Given the description of an element on the screen output the (x, y) to click on. 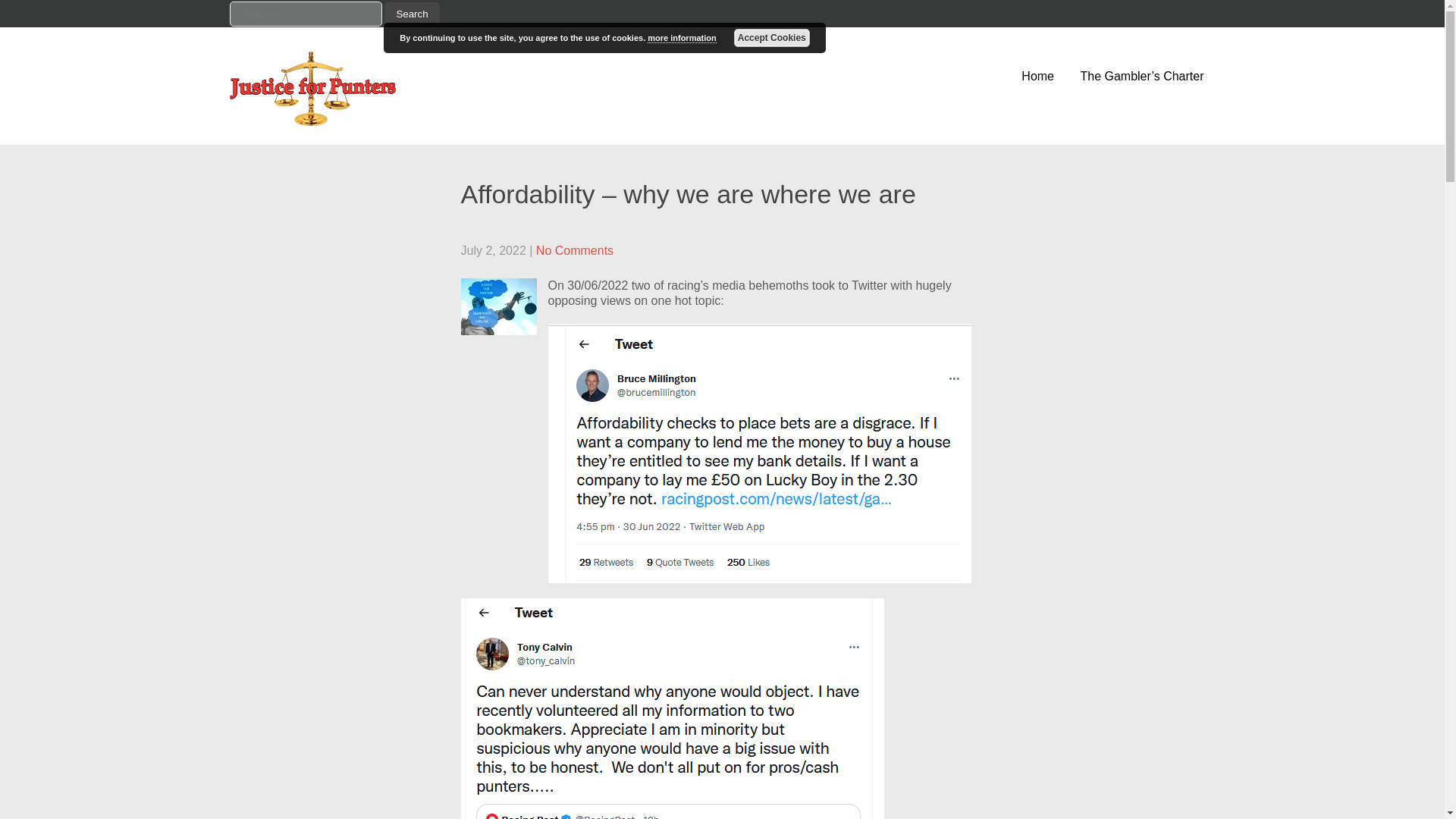
Search (411, 13)
No Comments (573, 250)
Search (411, 13)
Search (411, 13)
